Given the description of an element on the screen output the (x, y) to click on. 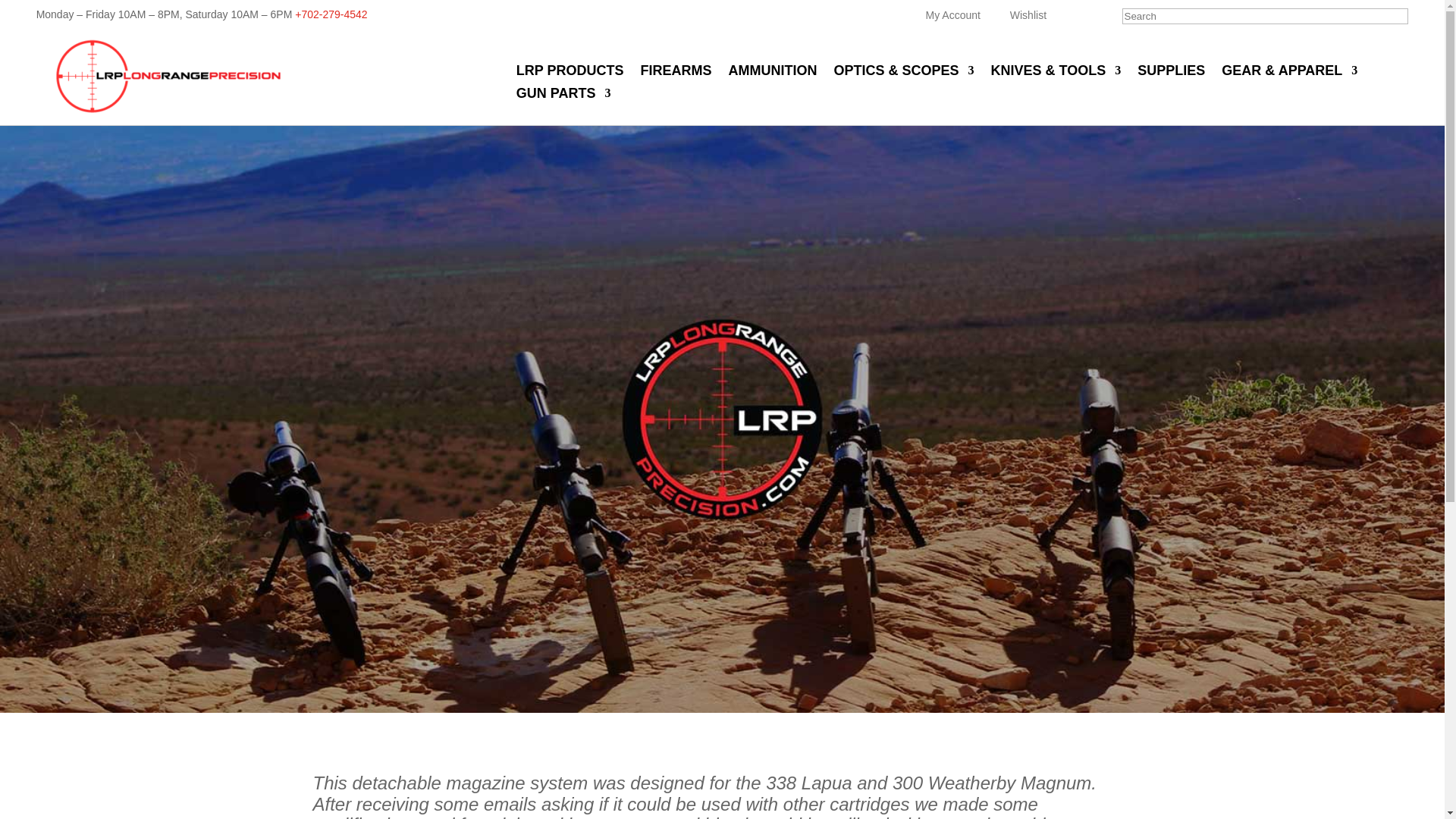
Wishlist (1028, 15)
AMMUNITION (772, 73)
SUPPLIES (1171, 73)
FIREARMS (675, 73)
GUN PARTS (563, 95)
My Account (952, 15)
cropped-logo-nav-lrp-1 (168, 76)
LRP PRODUCTS (570, 73)
